Given the description of an element on the screen output the (x, y) to click on. 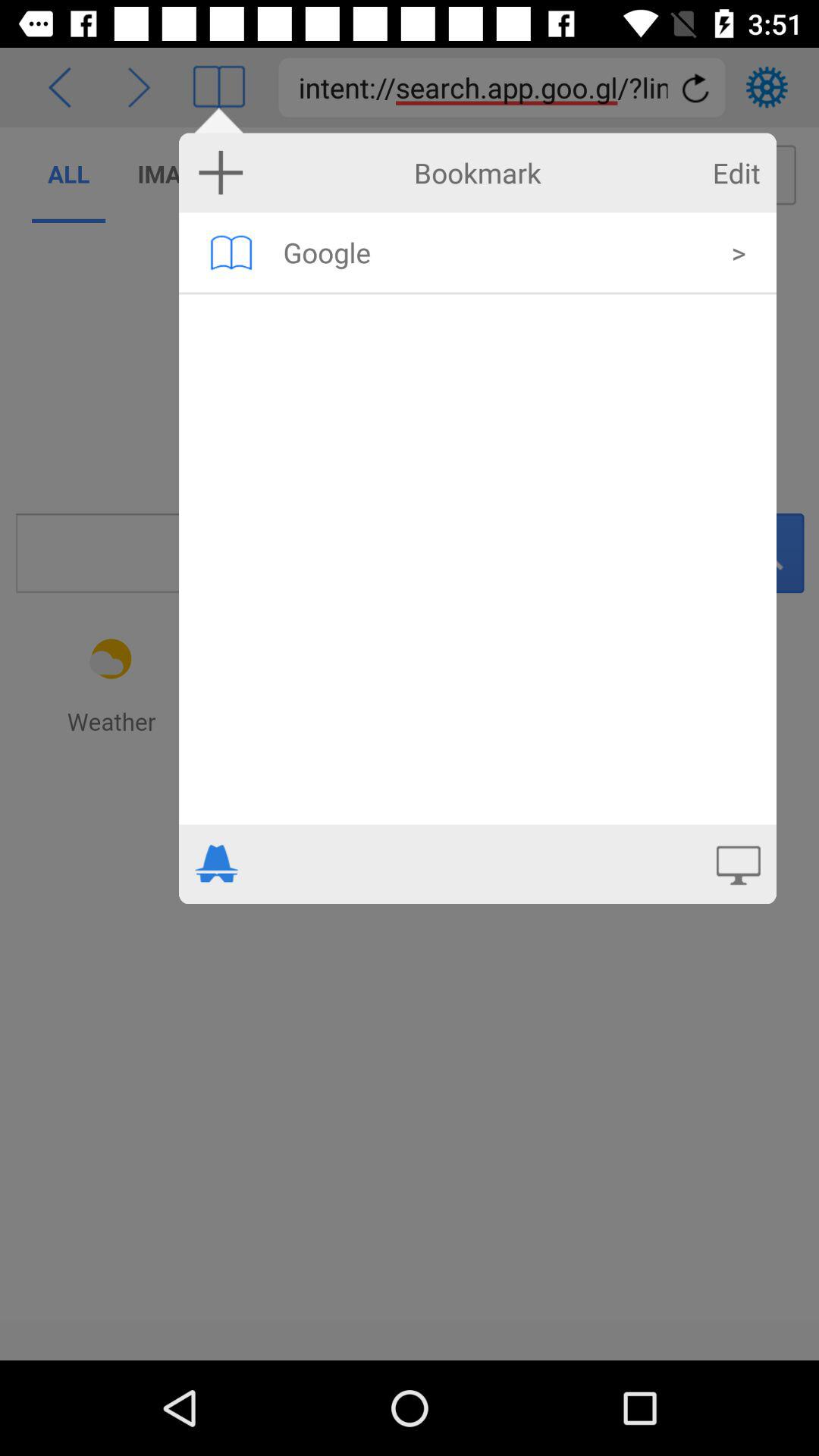
press icon below bookmark (231, 252)
